Given the description of an element on the screen output the (x, y) to click on. 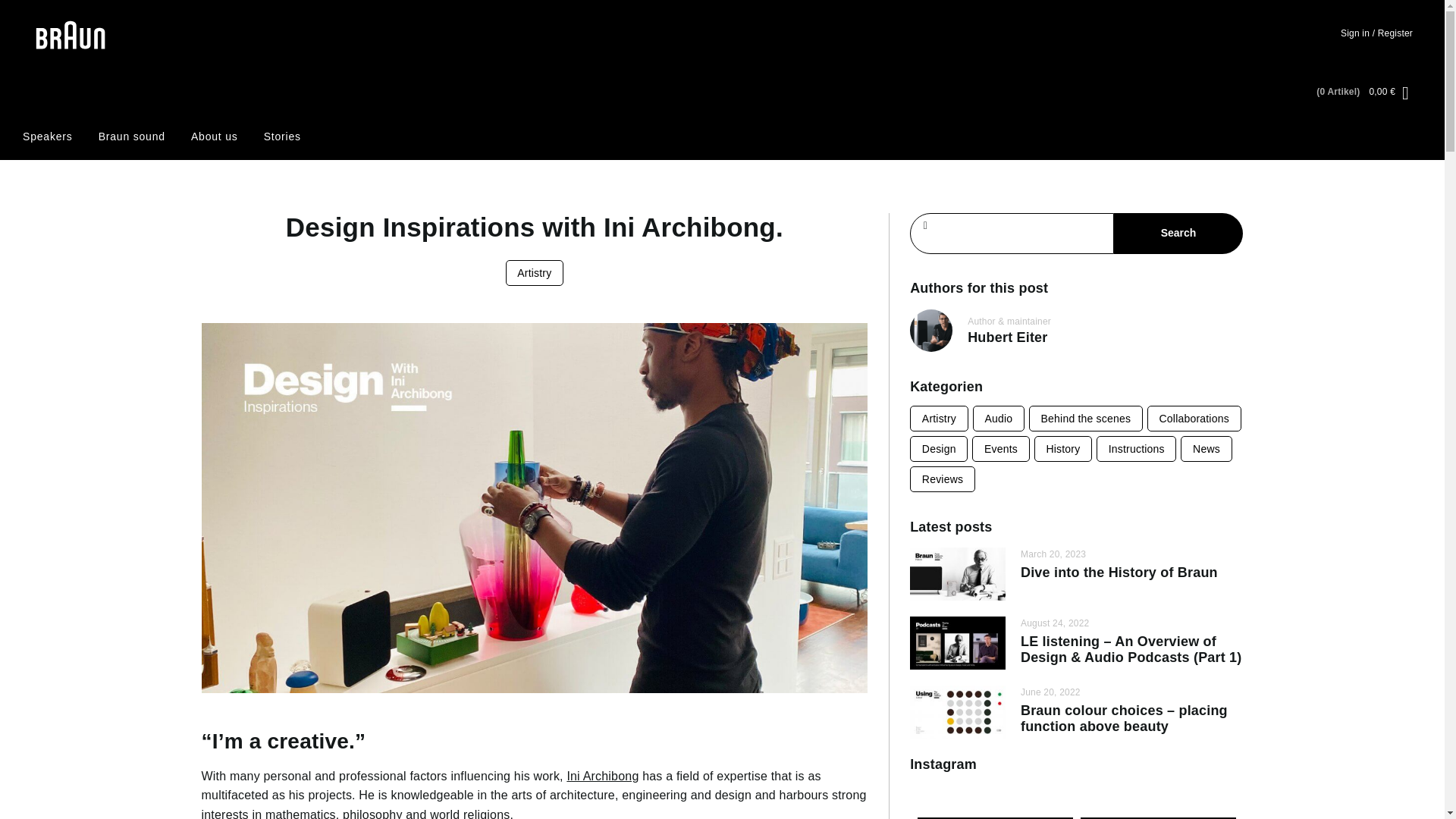
Braun sound (131, 135)
Search (1178, 232)
Artistry (534, 272)
Ini Archibong (602, 775)
Artistry (939, 418)
Speakers (47, 135)
Speakers (47, 135)
About us (213, 135)
Stories (282, 135)
Search (1178, 232)
